Given the description of an element on the screen output the (x, y) to click on. 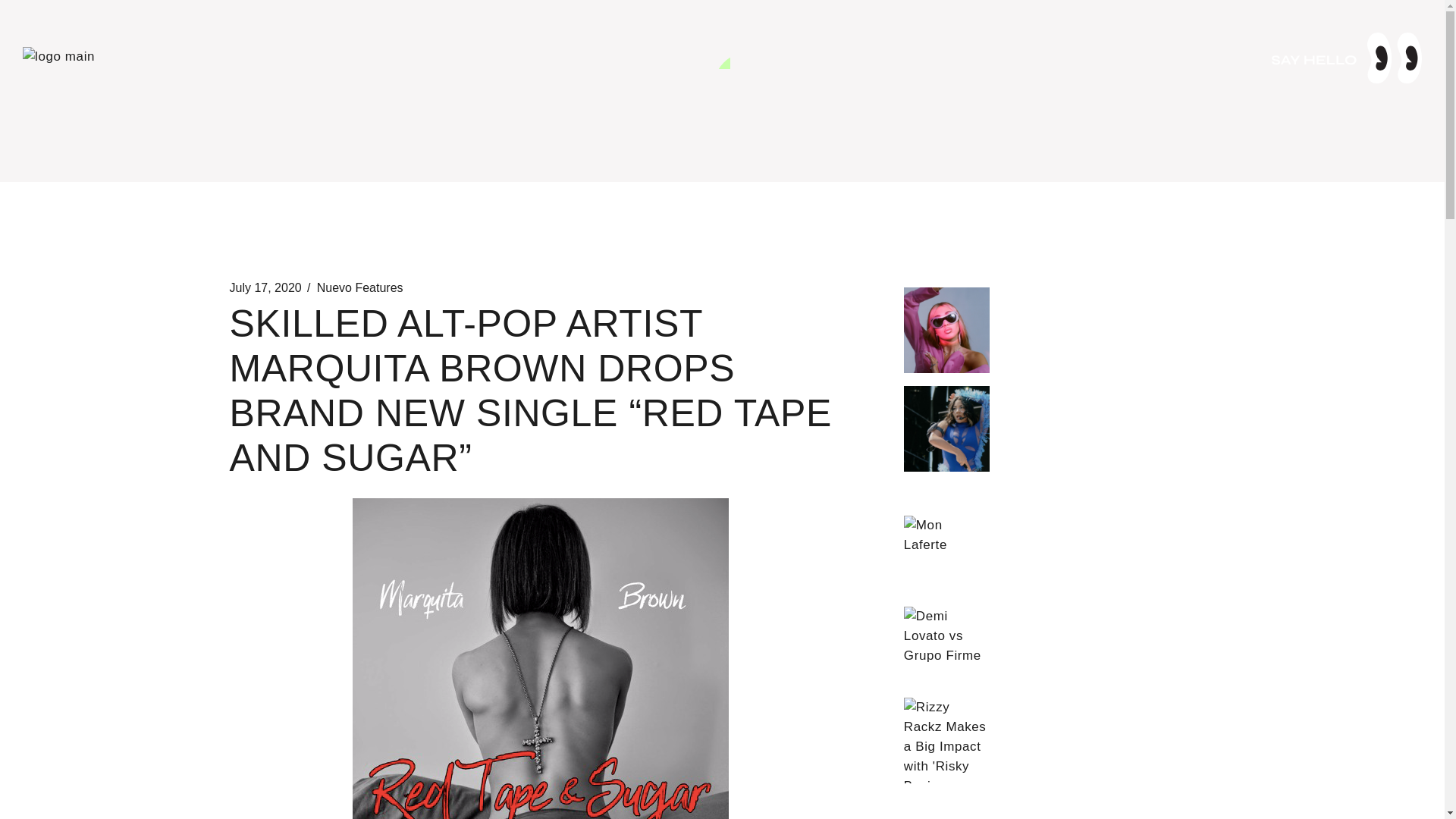
July 17, 2020 (264, 287)
Nuevo Features (360, 287)
